Given the description of an element on the screen output the (x, y) to click on. 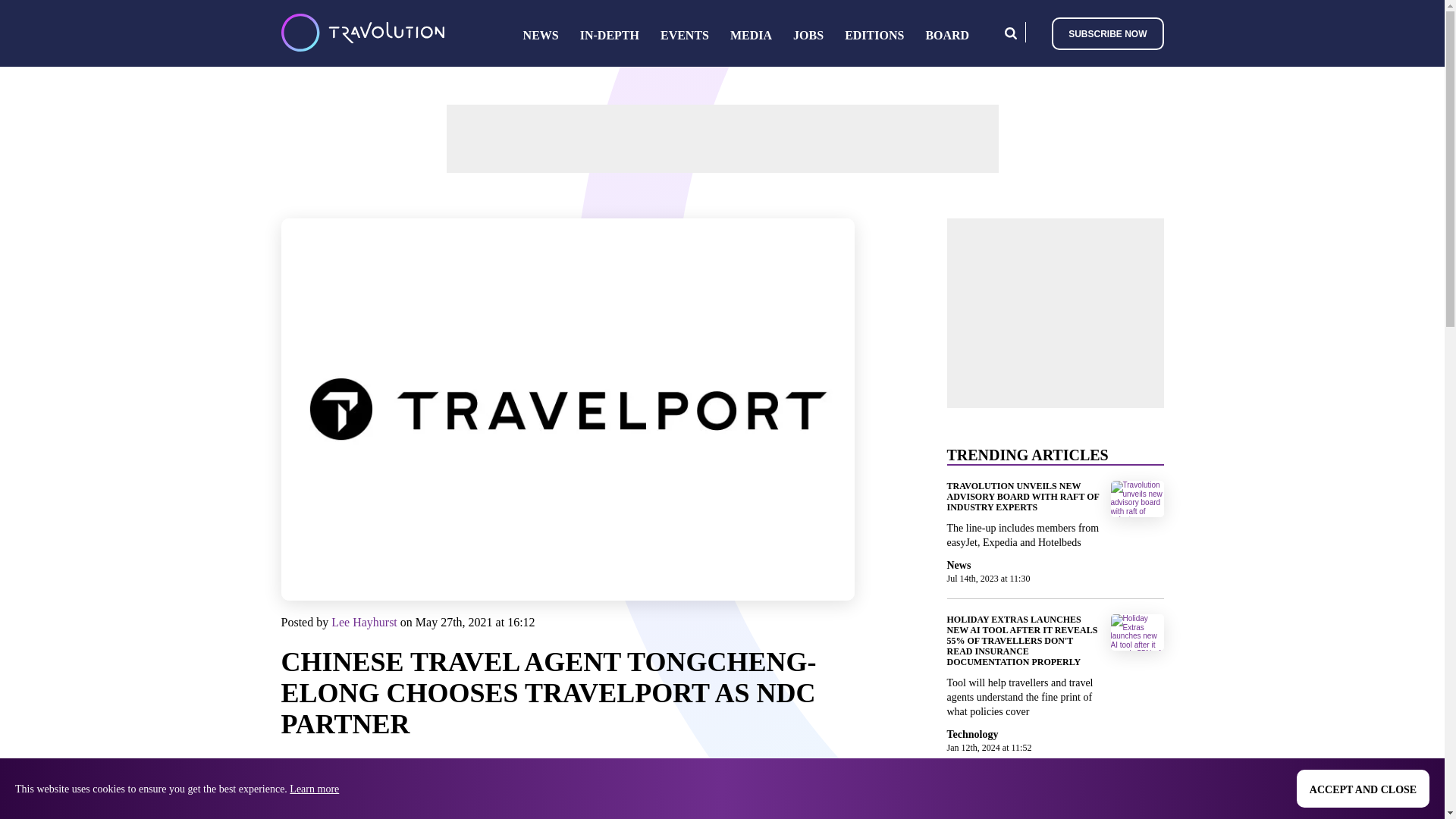
NEWS (540, 34)
EVENTS (685, 34)
Lee Hayhurst (364, 621)
JOBS (808, 34)
IN-DEPTH (609, 34)
SUBSCRIBE NOW (1107, 32)
Board (946, 34)
MEDIA (750, 34)
Search (1010, 32)
BOARD (946, 34)
